Given the description of an element on the screen output the (x, y) to click on. 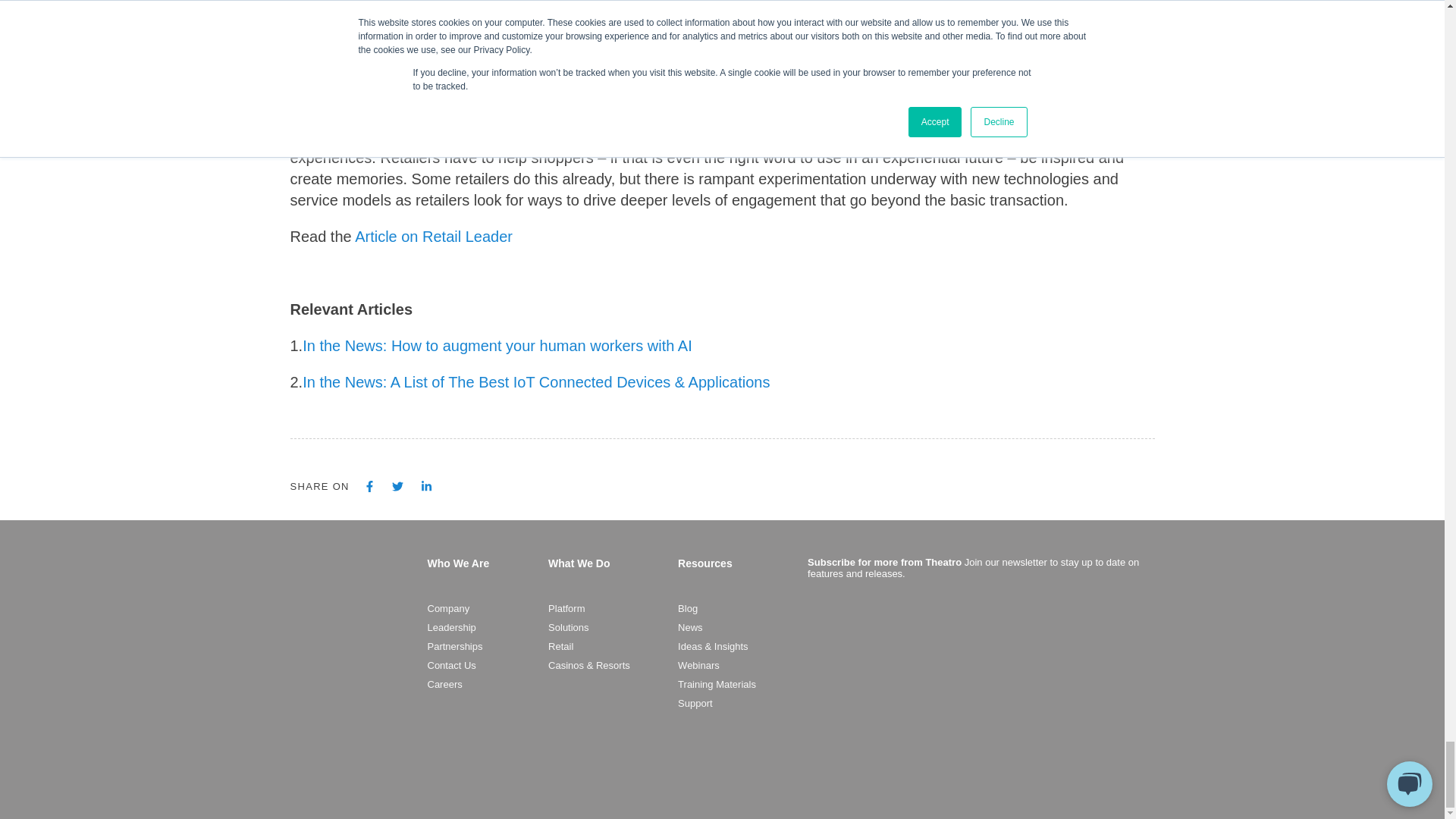
Form 0 (977, 686)
